Given the description of an element on the screen output the (x, y) to click on. 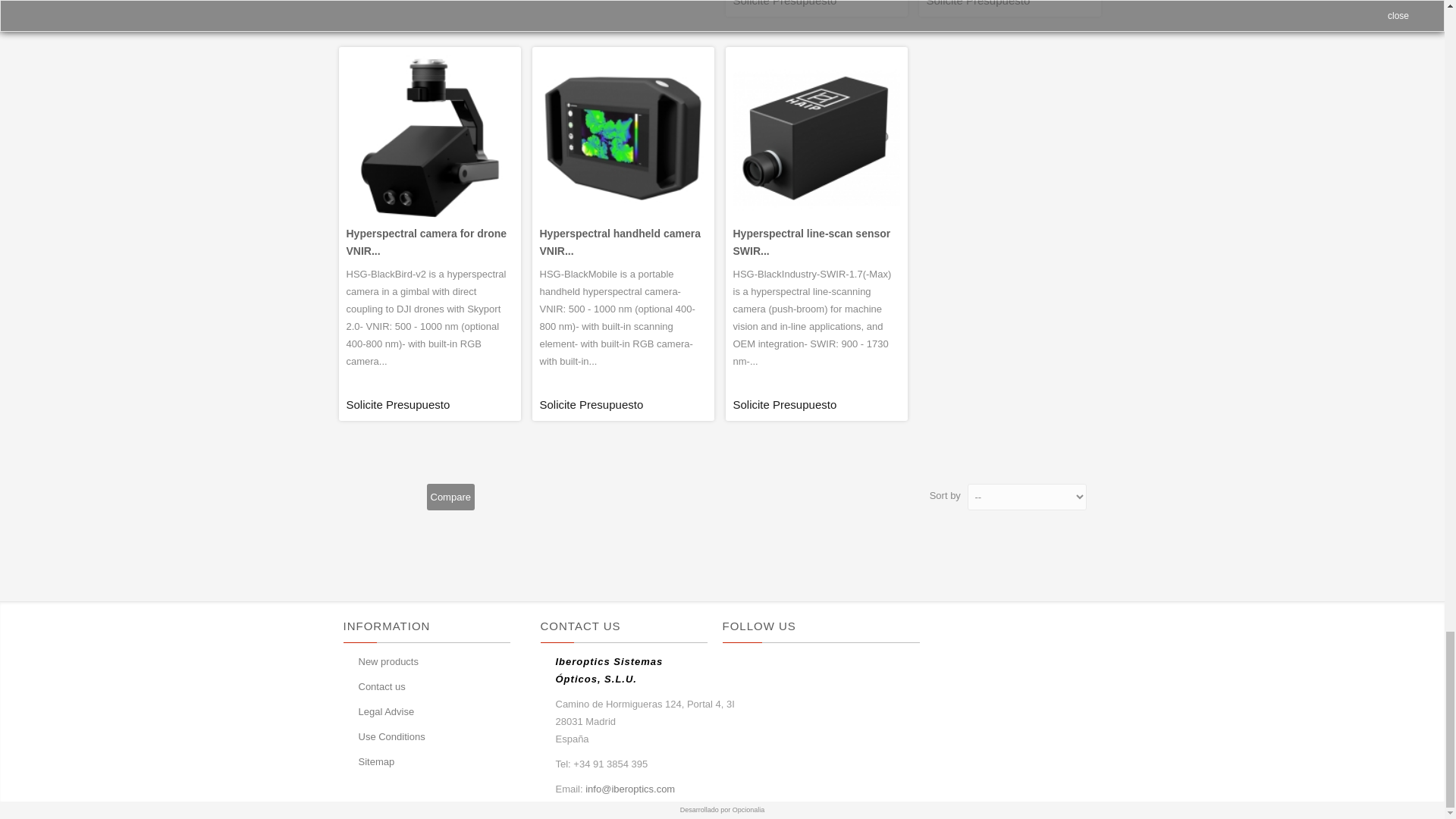
Compare (450, 497)
